Given the description of an element on the screen output the (x, y) to click on. 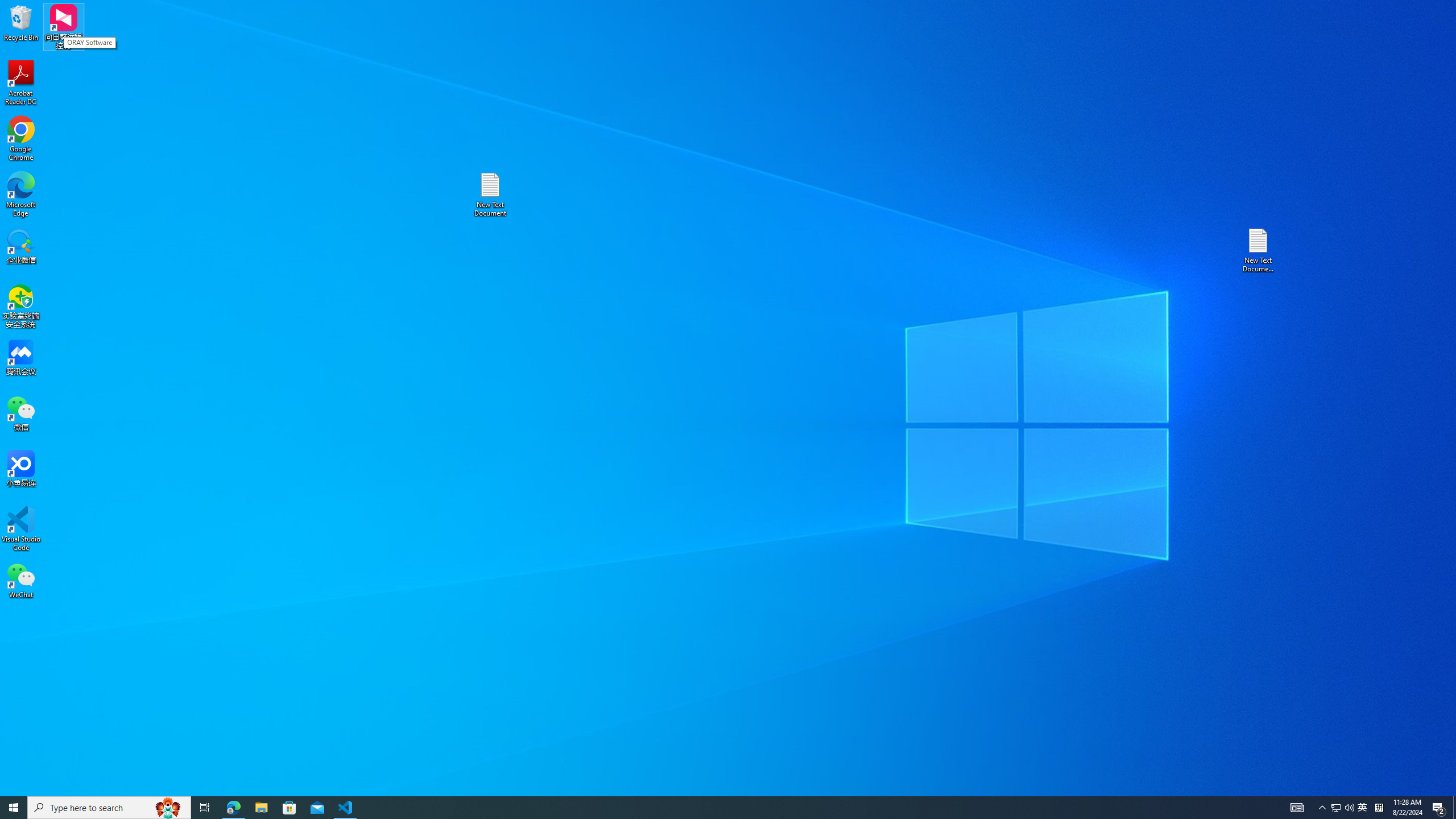
Running applications (1335, 807)
Acrobat Reader DC (707, 807)
